Given the description of an element on the screen output the (x, y) to click on. 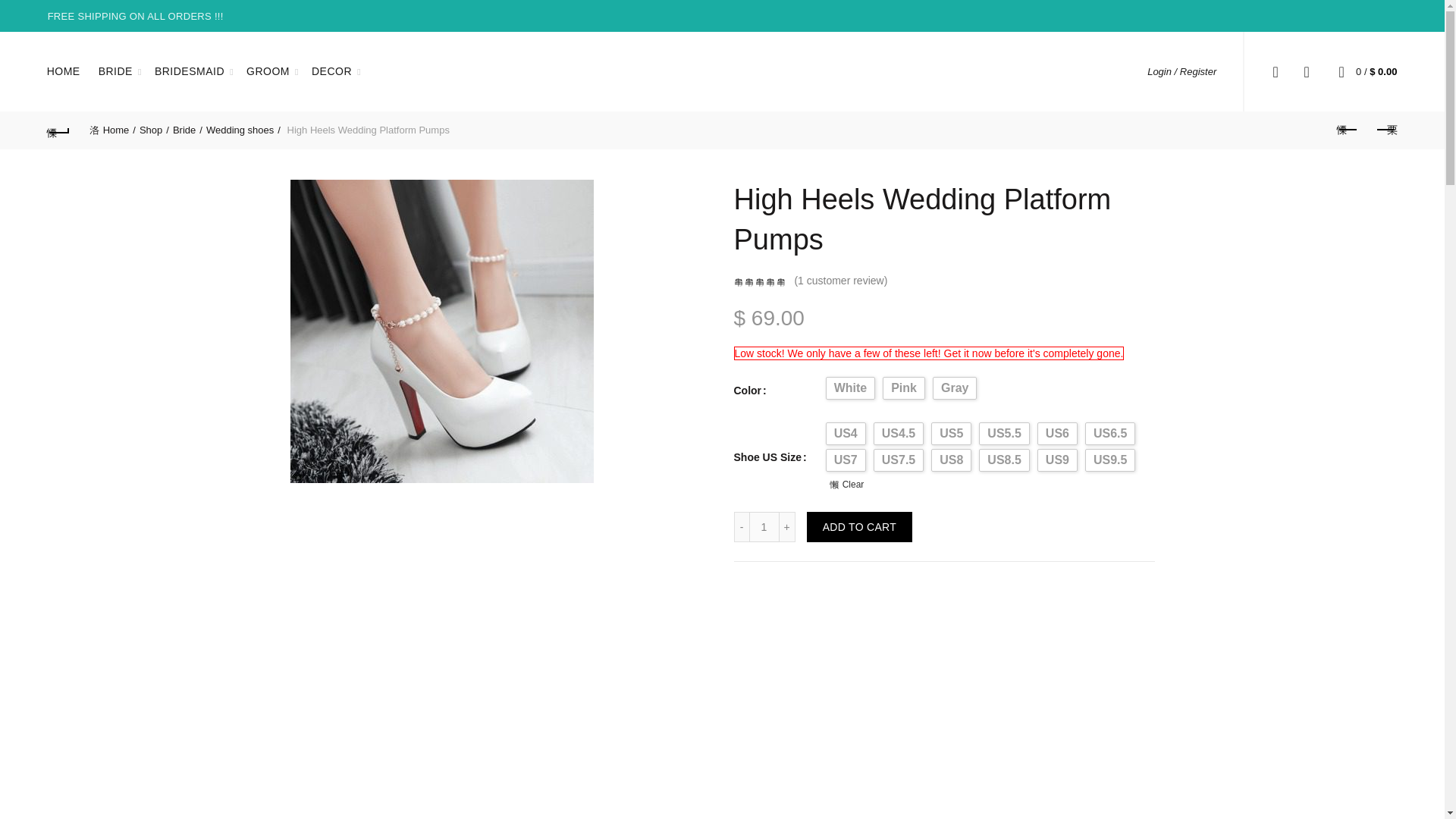
Qty (763, 526)
High Heels Wedding Platform Pumps (440, 331)
1 (763, 526)
BRIDESMAID (189, 71)
